Given the description of an element on the screen output the (x, y) to click on. 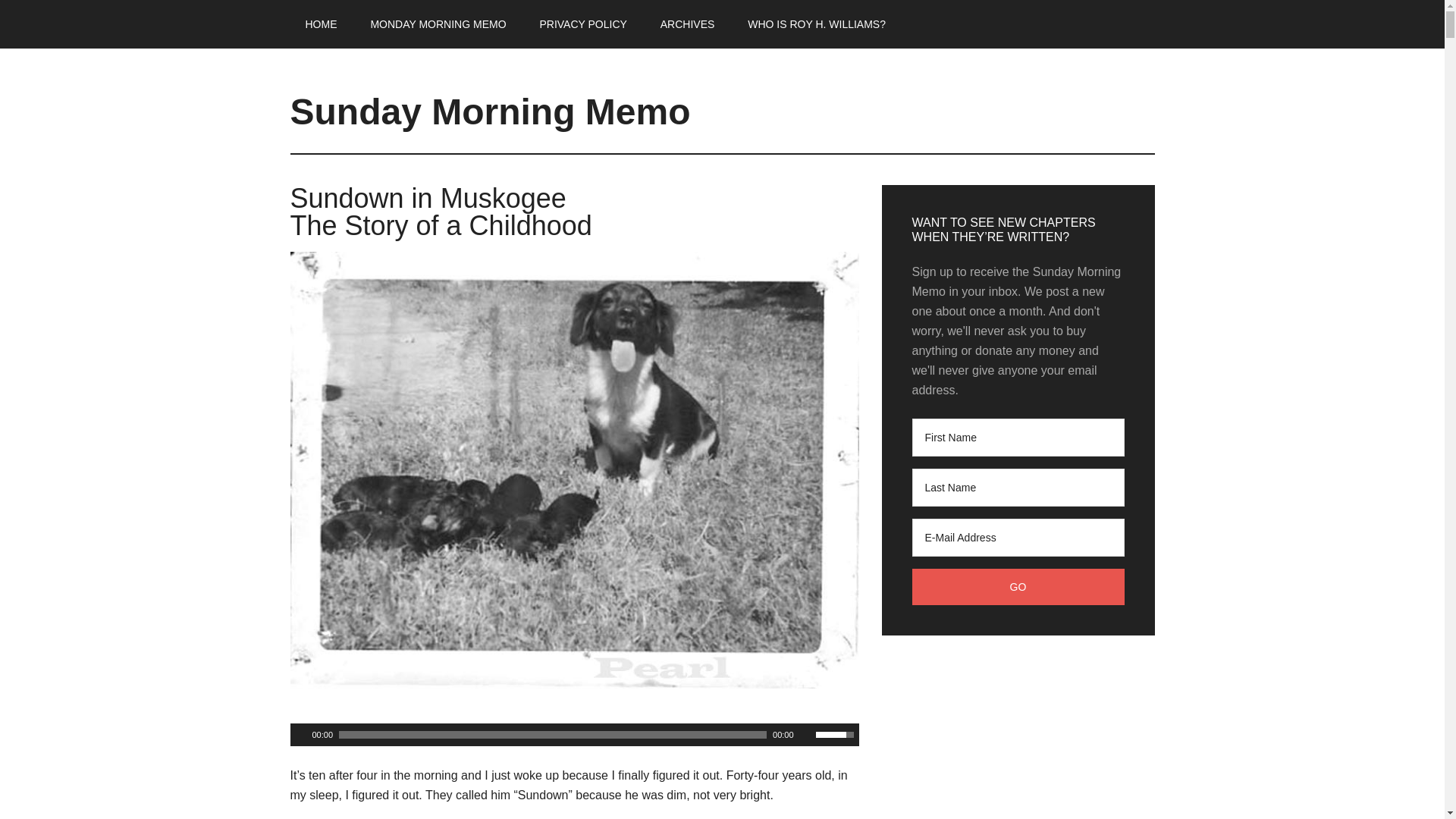
HOME (320, 24)
ARCHIVES (687, 24)
Go (1017, 586)
Play (299, 734)
Sunday Morning Memo (489, 111)
PRIVACY POLICY (583, 24)
MONDAY MORNING MEMO (438, 24)
WHO IS ROY H. WILLIAMS? (816, 24)
Go (1017, 586)
Mute (805, 734)
